Given the description of an element on the screen output the (x, y) to click on. 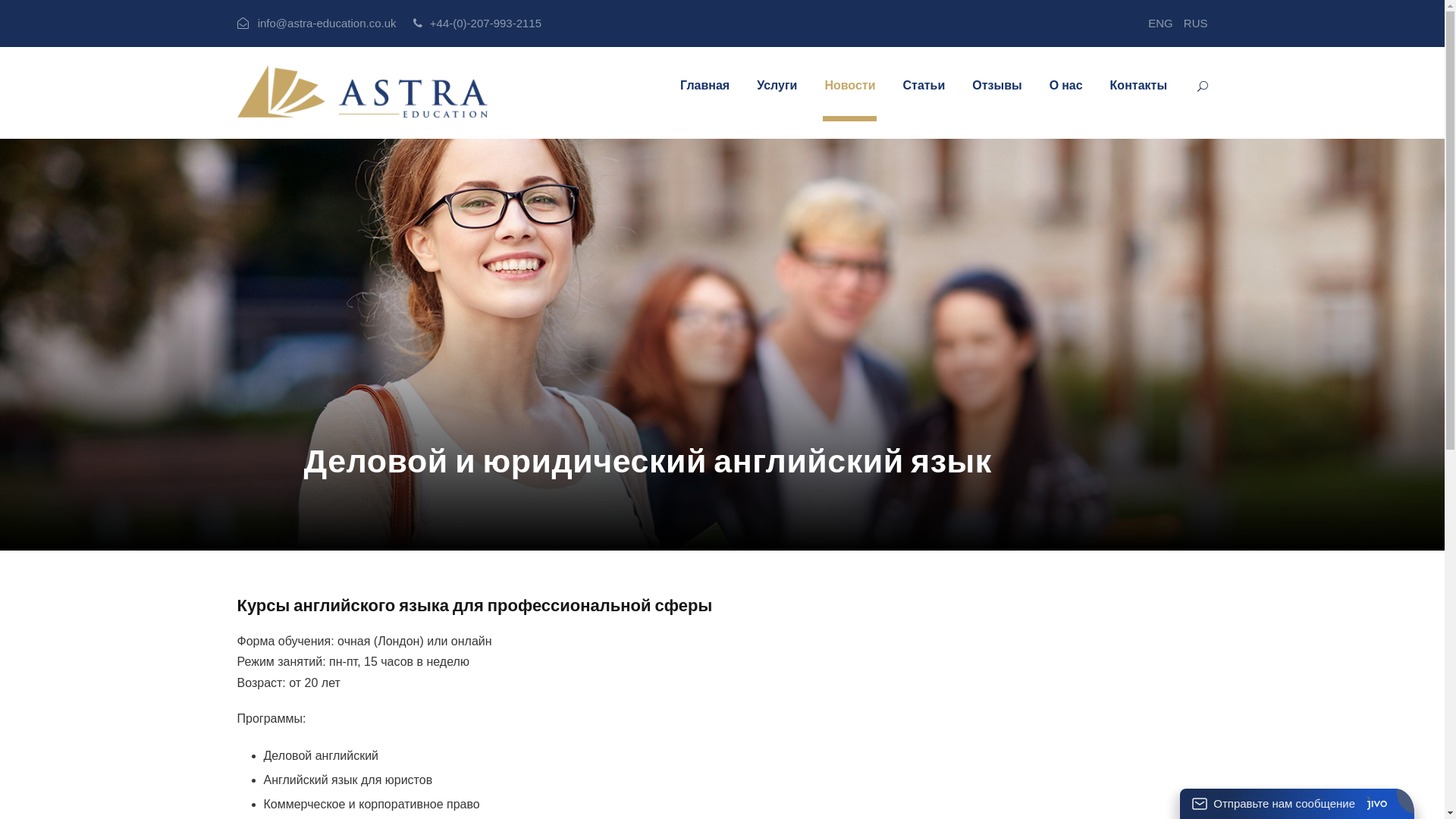
ENG Element type: text (1156, 22)
info@astra-education.co.uk Element type: text (326, 22)
+44-(0)-207-993-2115 Element type: text (485, 22)
RUS Element type: text (1192, 22)
